Given the description of an element on the screen output the (x, y) to click on. 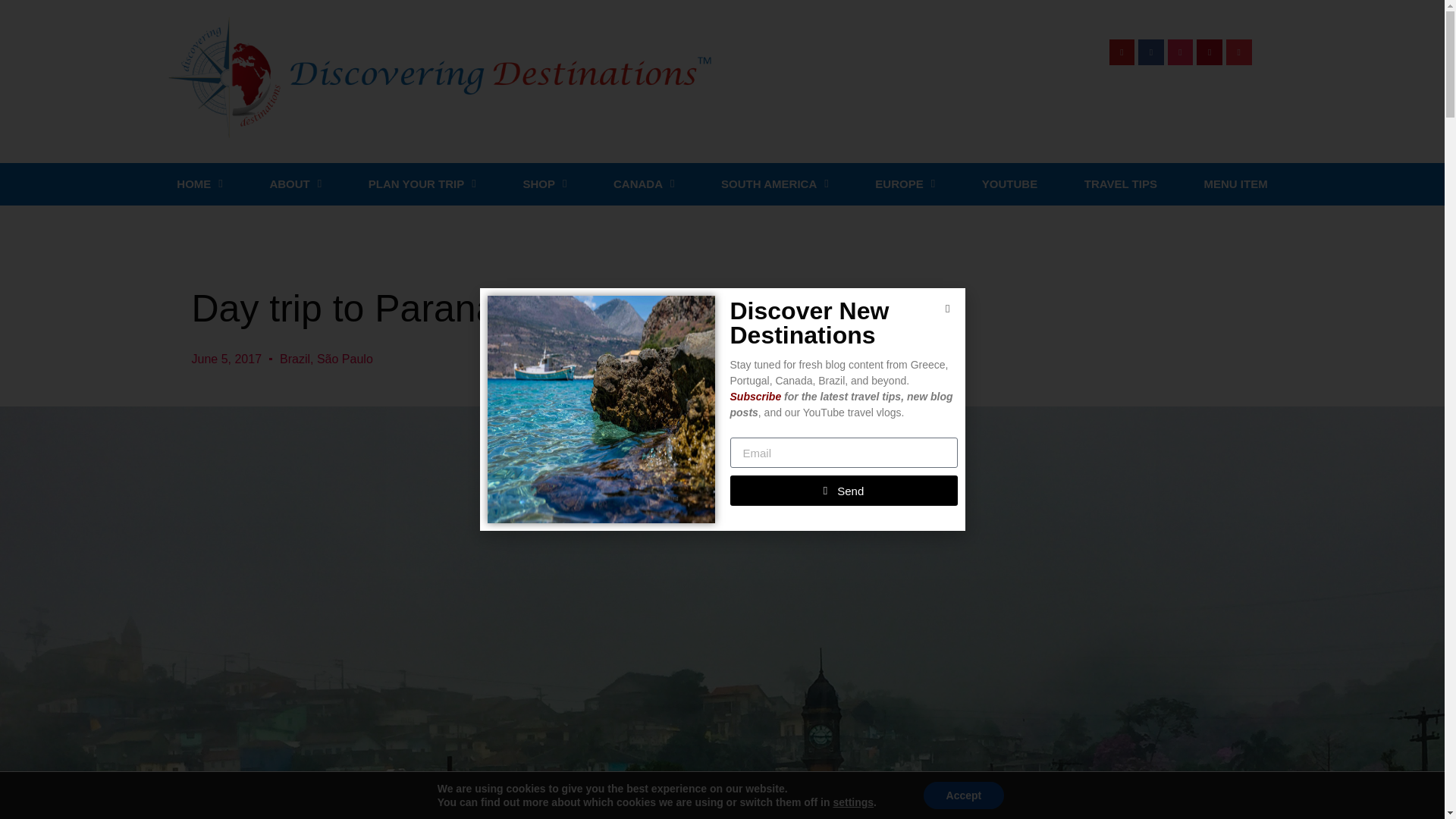
SOUTH AMERICA (774, 183)
CANADA (643, 183)
PLAN YOUR TRIP (422, 183)
SHOP (545, 183)
HOME (199, 183)
ABOUT (295, 183)
